Given the description of an element on the screen output the (x, y) to click on. 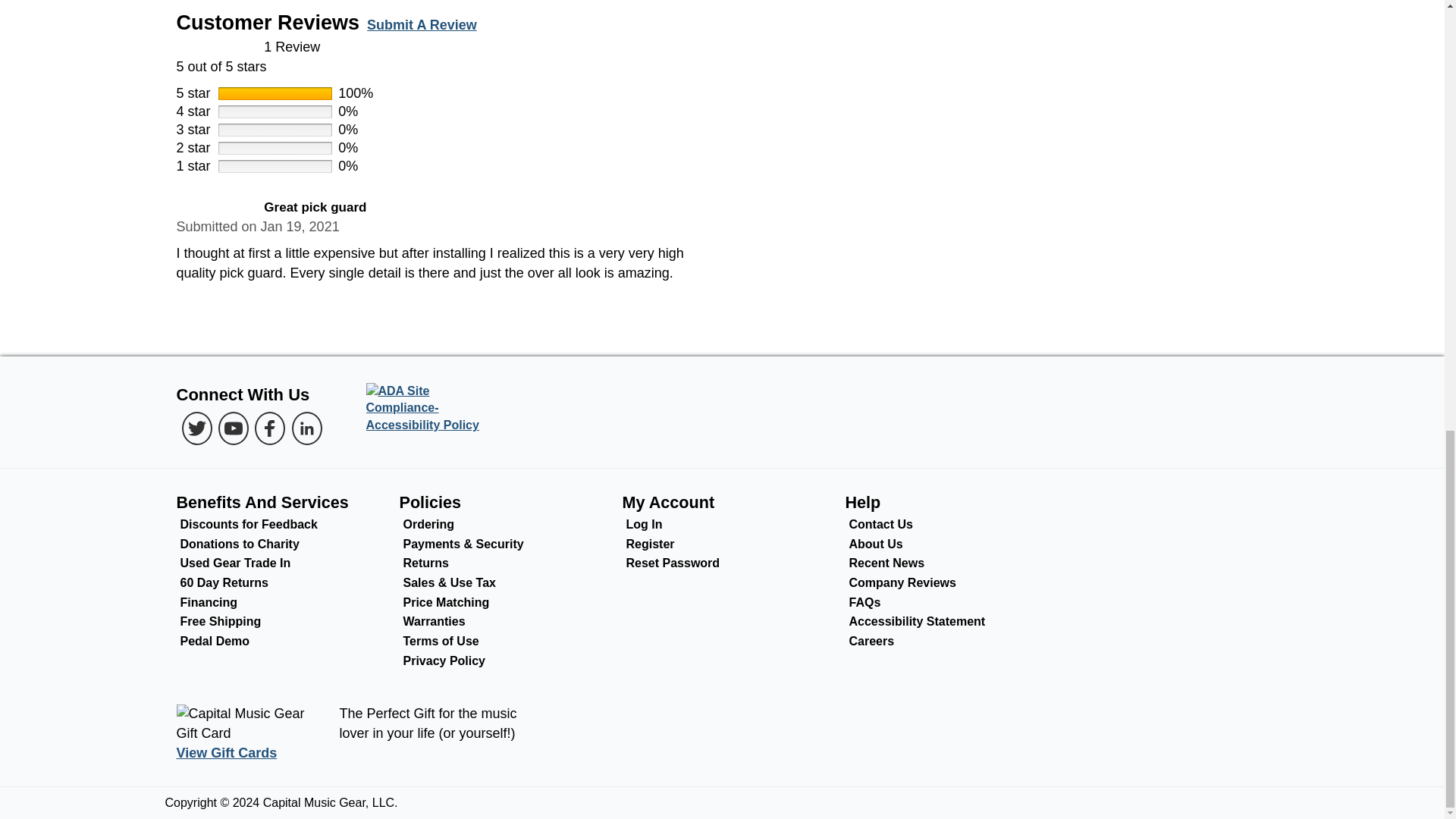
5 out of 5 (216, 207)
ADA Site Compliance-Accessibility Policy - Opens in new tab (427, 408)
Our Linkedin Page - Opens in new Tab (306, 428)
5 out of 5 (722, 56)
Our Twitter Page - Opens in new Tab (197, 428)
Our Facebook Page - Opens in new Tab (269, 428)
Our Youtube Page - Opens in new Tab (233, 428)
